Given the description of an element on the screen output the (x, y) to click on. 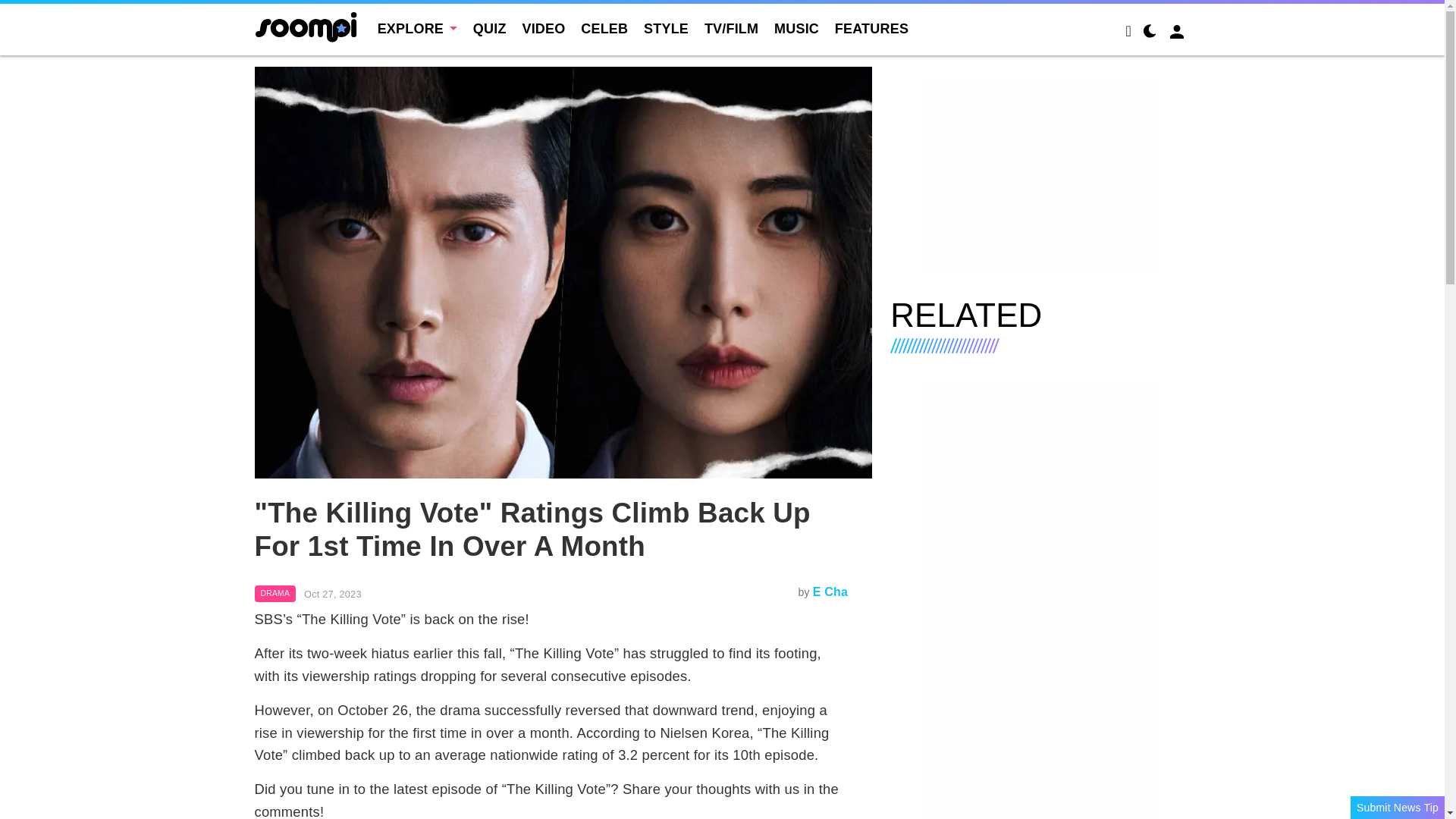
FEATURES (871, 28)
Drama (275, 593)
Articles by E Cha (829, 591)
3rd party ad content (1040, 173)
E Cha (829, 591)
VIDEO (542, 28)
QUIZ (489, 28)
Night Mode Toggle (1149, 33)
DRAMA (275, 593)
EXPLORE (417, 28)
